Given the description of an element on the screen output the (x, y) to click on. 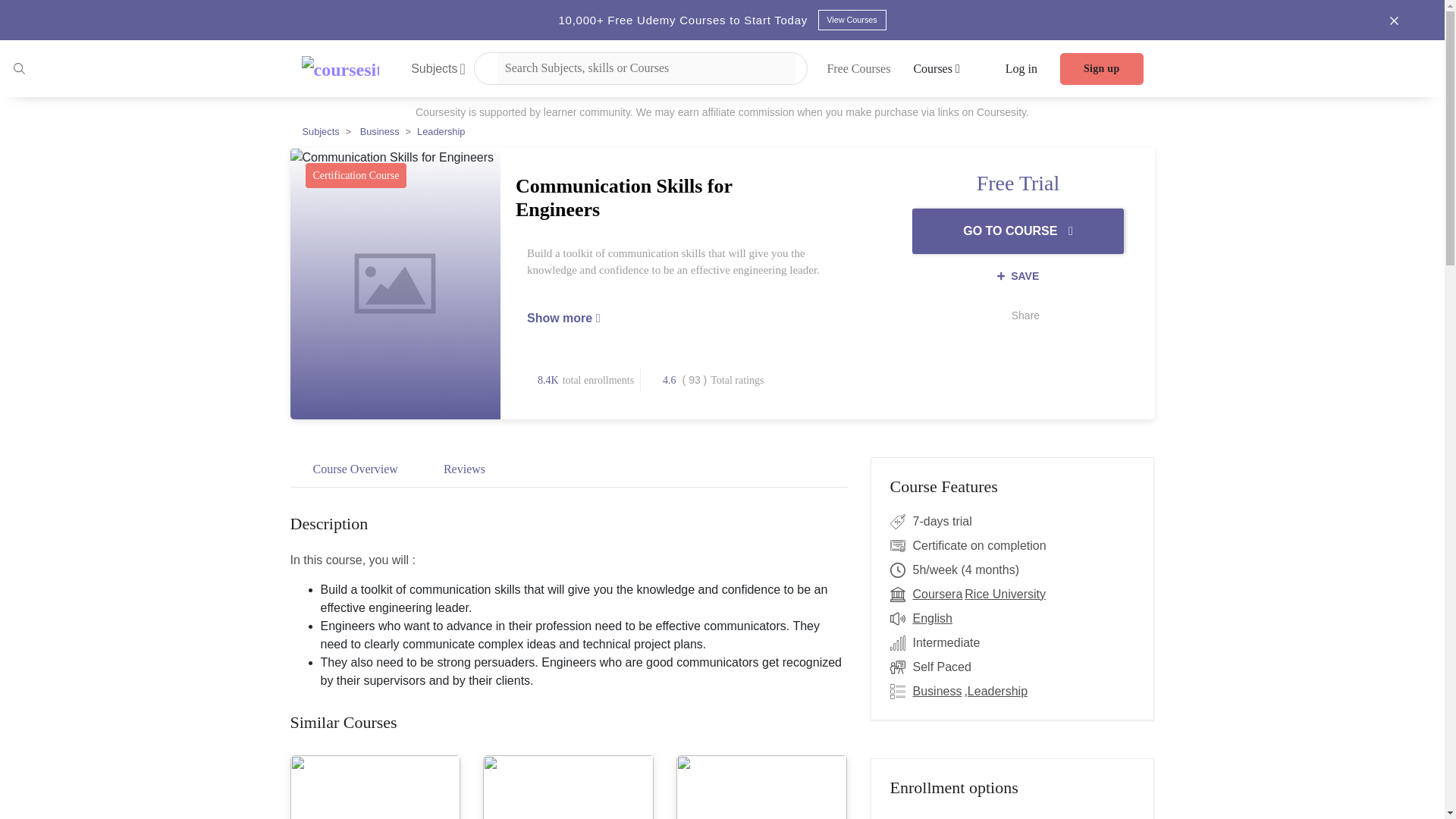
Type (900, 667)
Course Overview (355, 472)
Log in (1021, 68)
View Courses (850, 19)
Topics (900, 691)
Duration (900, 570)
Leadership (440, 131)
Free Courses (858, 68)
Courses (935, 68)
Show more (563, 318)
Free Trial (900, 521)
Sign up (1100, 69)
Subjects (438, 68)
Certification (900, 546)
Reviews (464, 472)
